Given the description of an element on the screen output the (x, y) to click on. 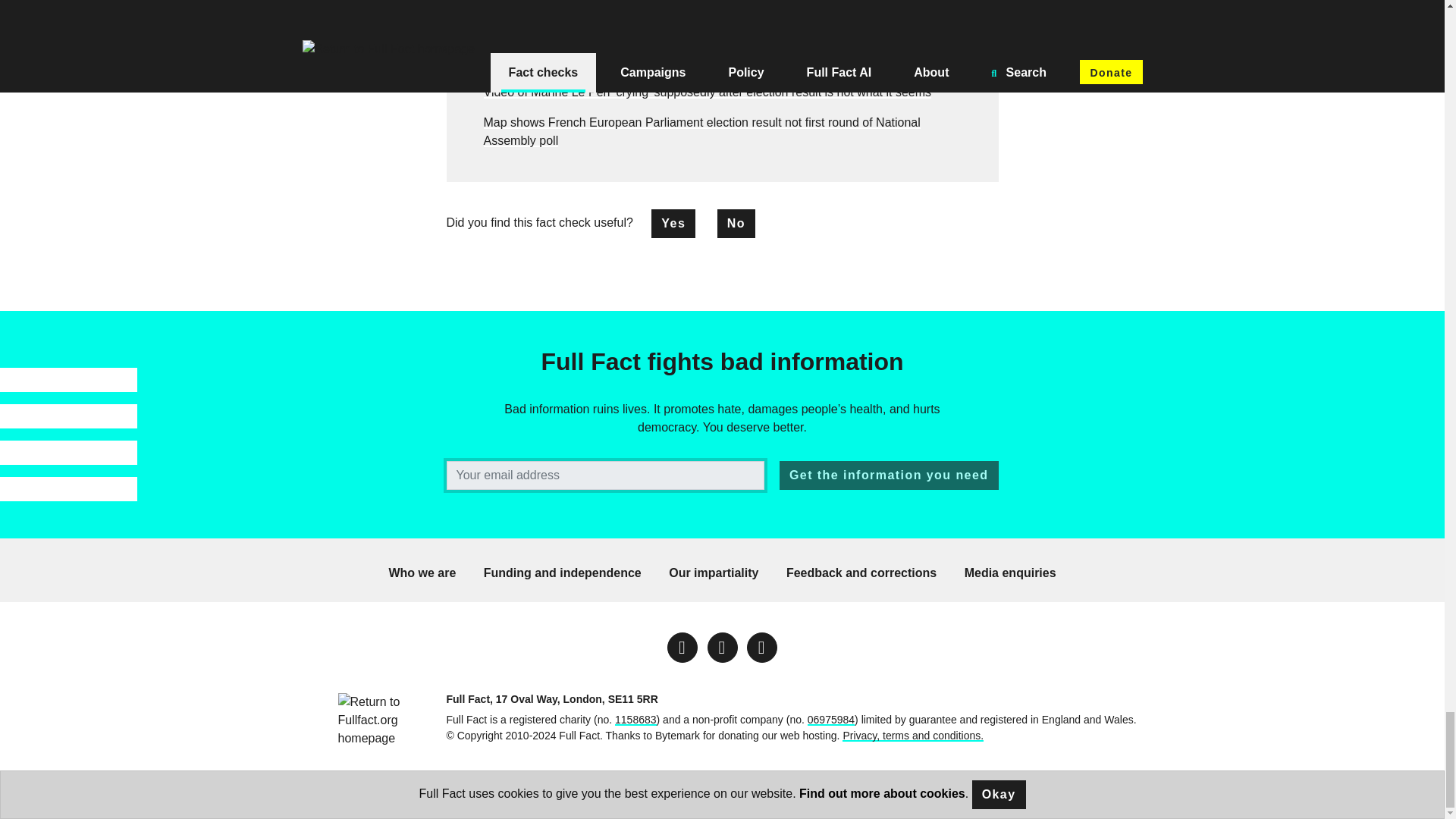
Link opens in a new window (761, 647)
Link opens in a new window (721, 647)
Link opens in a new window (681, 647)
